Given the description of an element on the screen output the (x, y) to click on. 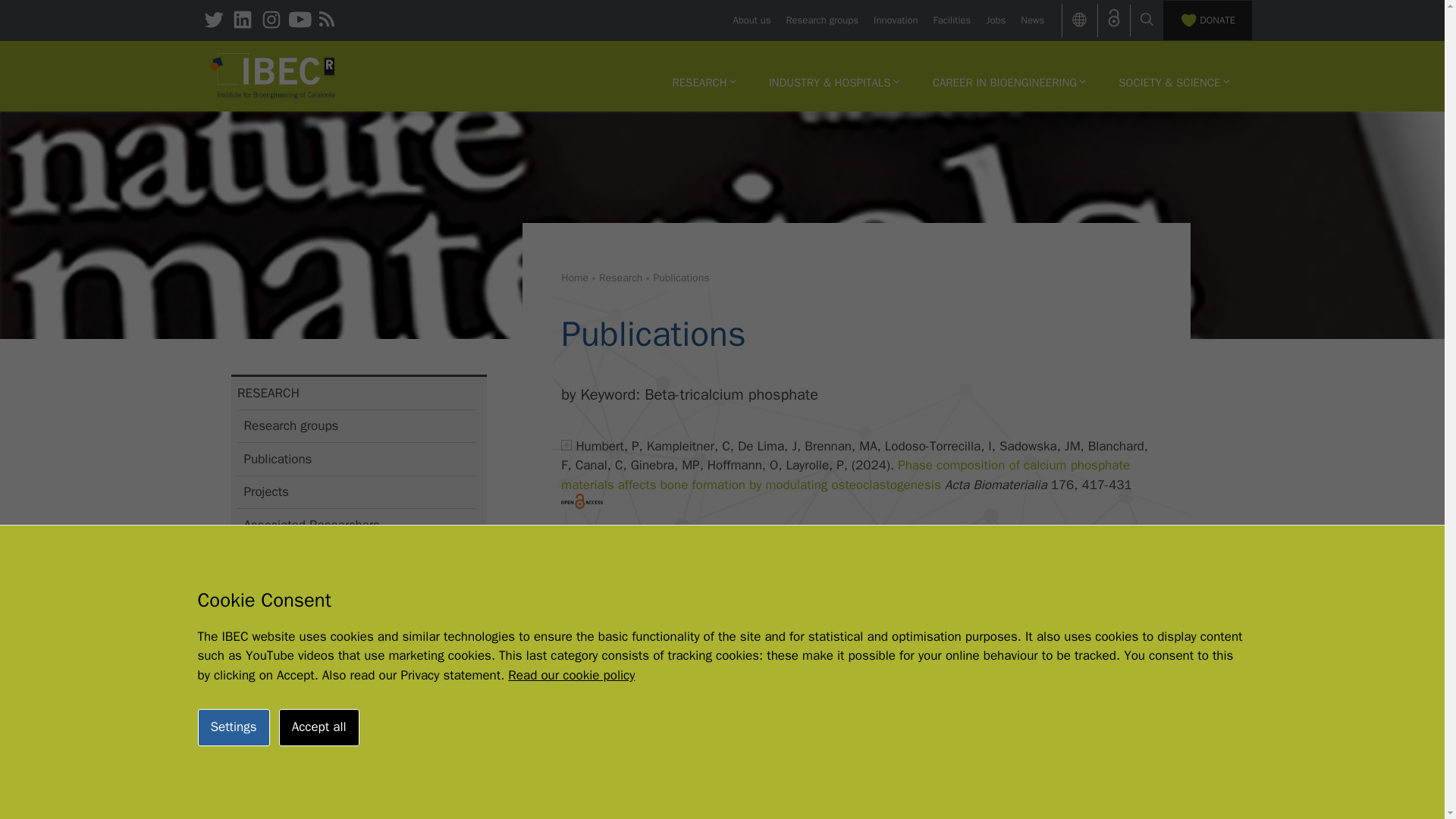
Innovation (895, 19)
RESEARCH (704, 81)
News (1031, 19)
Facilities (952, 19)
Institute for Bioengineering of Catalonia (272, 75)
Research groups (822, 19)
DONATE (1207, 20)
Jobs (995, 19)
About us (751, 19)
Institute for Bioengineering of Catalonia (272, 74)
